Given the description of an element on the screen output the (x, y) to click on. 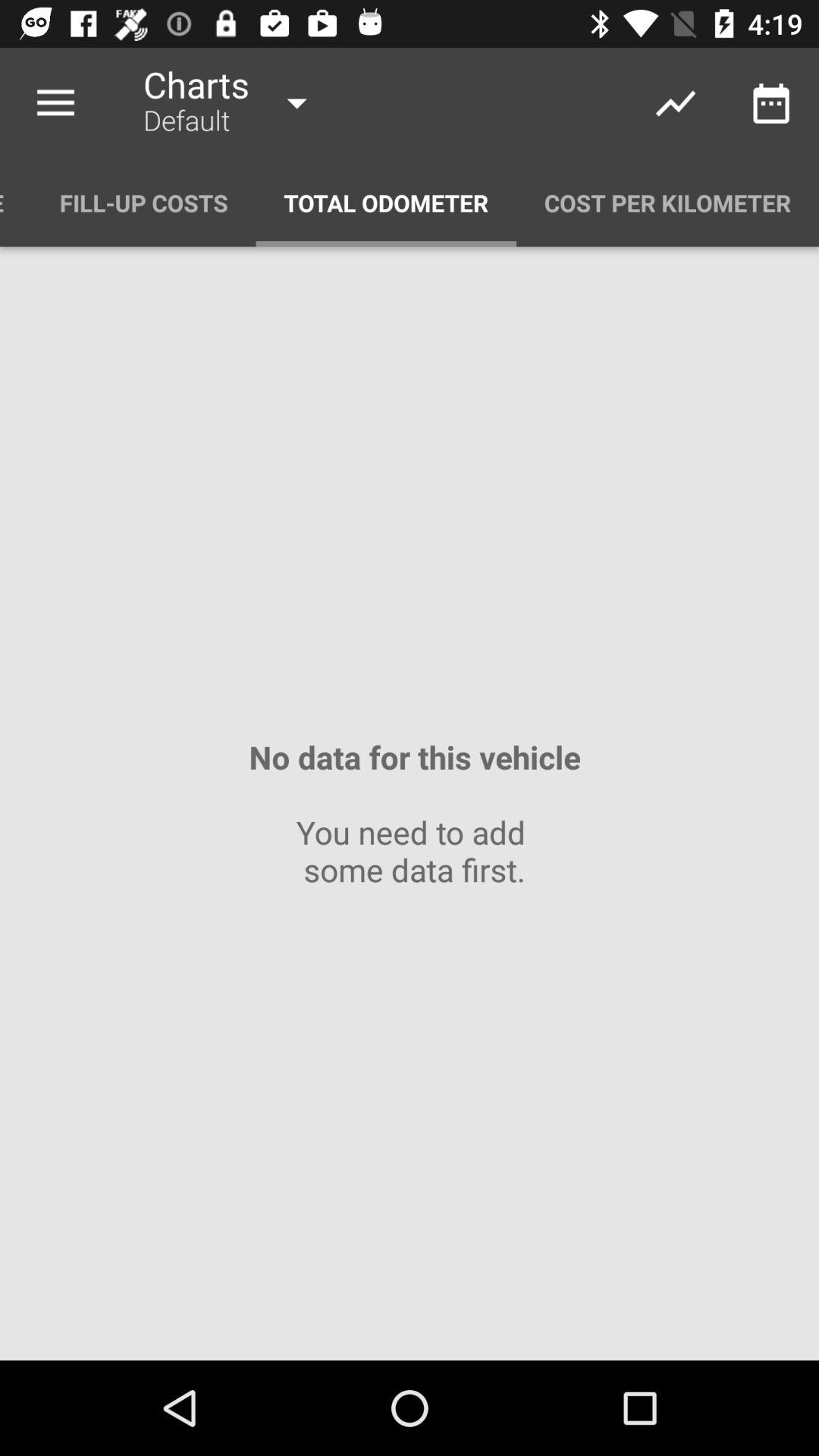
choose item next to total odometer item (667, 202)
